Given the description of an element on the screen output the (x, y) to click on. 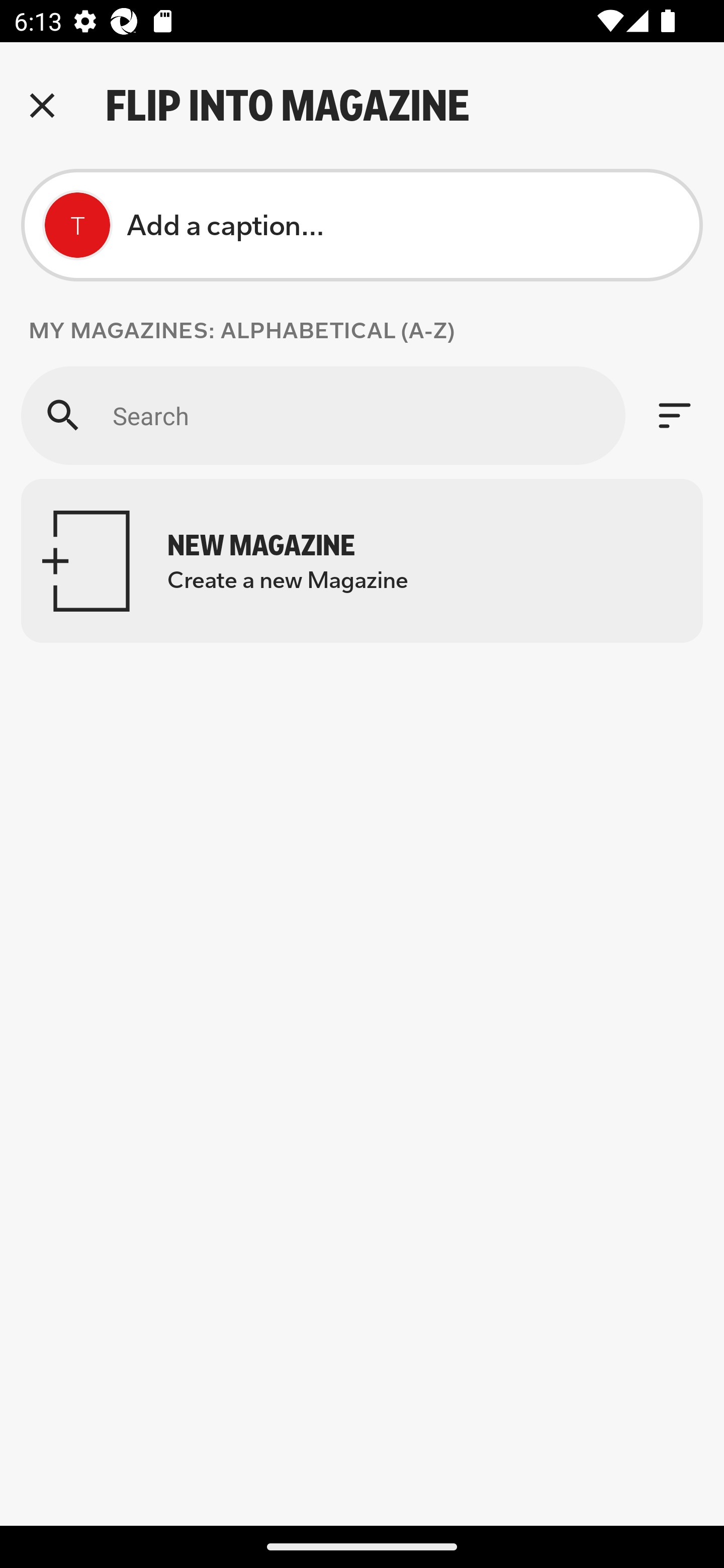
Test Appium Add a caption… (361, 224)
Search (322, 415)
NEW MAGAZINE Create a new Magazine (361, 560)
